Given the description of an element on the screen output the (x, y) to click on. 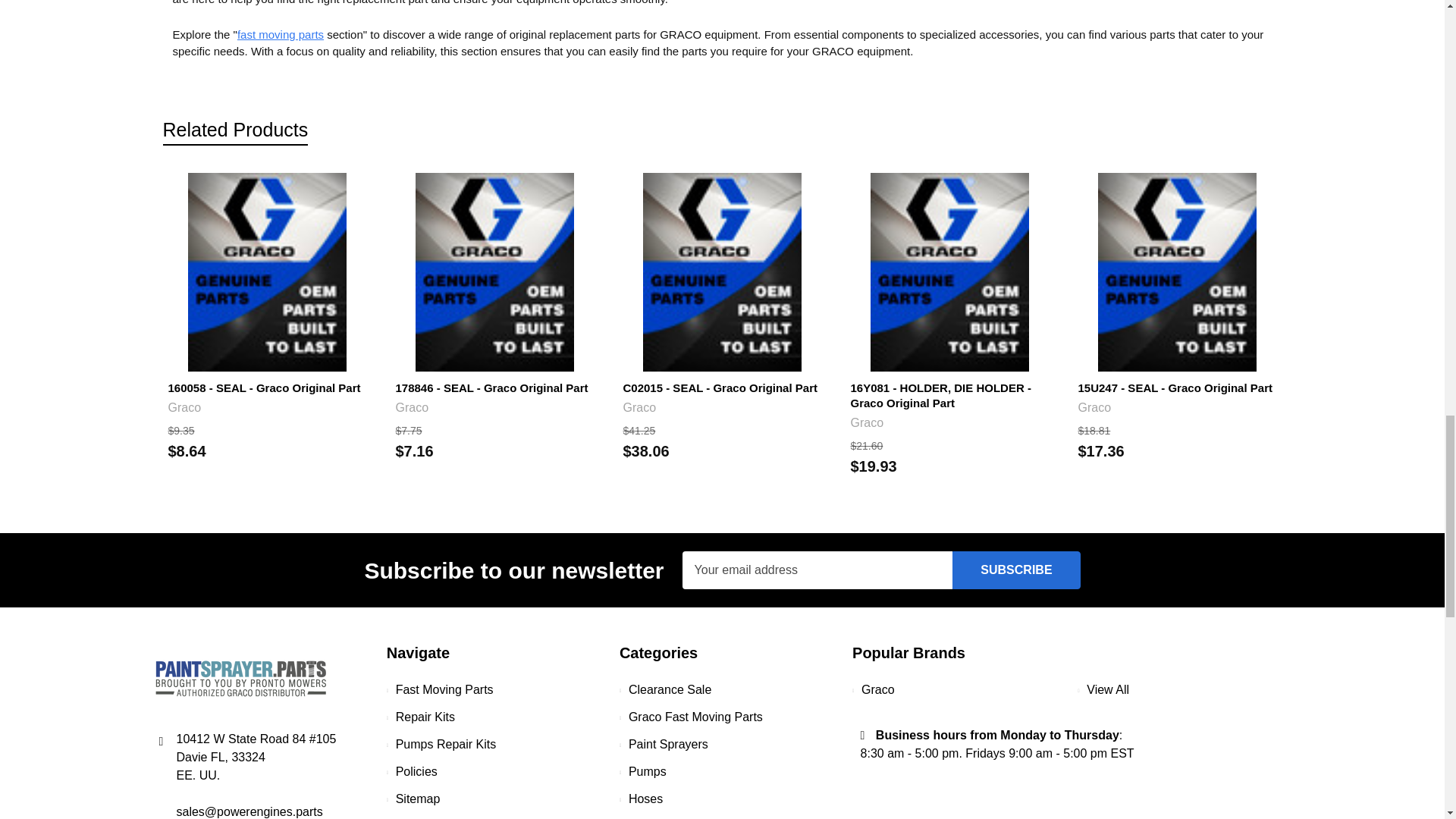
160058 - SEAL - Graco Original Part - Image 1 (267, 271)
C02015 - SEAL - Graco Original Part - Image 1 (722, 271)
15U247 - SEAL - Graco Original Part - Image 1 (1177, 271)
Paintsprayer Parts (239, 678)
16Y081 - HOLDER DIE HOLDER - Graco Original Part - Image 1 (949, 271)
Subscribe (1016, 569)
178846 - SEAL - Graco Original Part - Image 1 (495, 271)
